Given the description of an element on the screen output the (x, y) to click on. 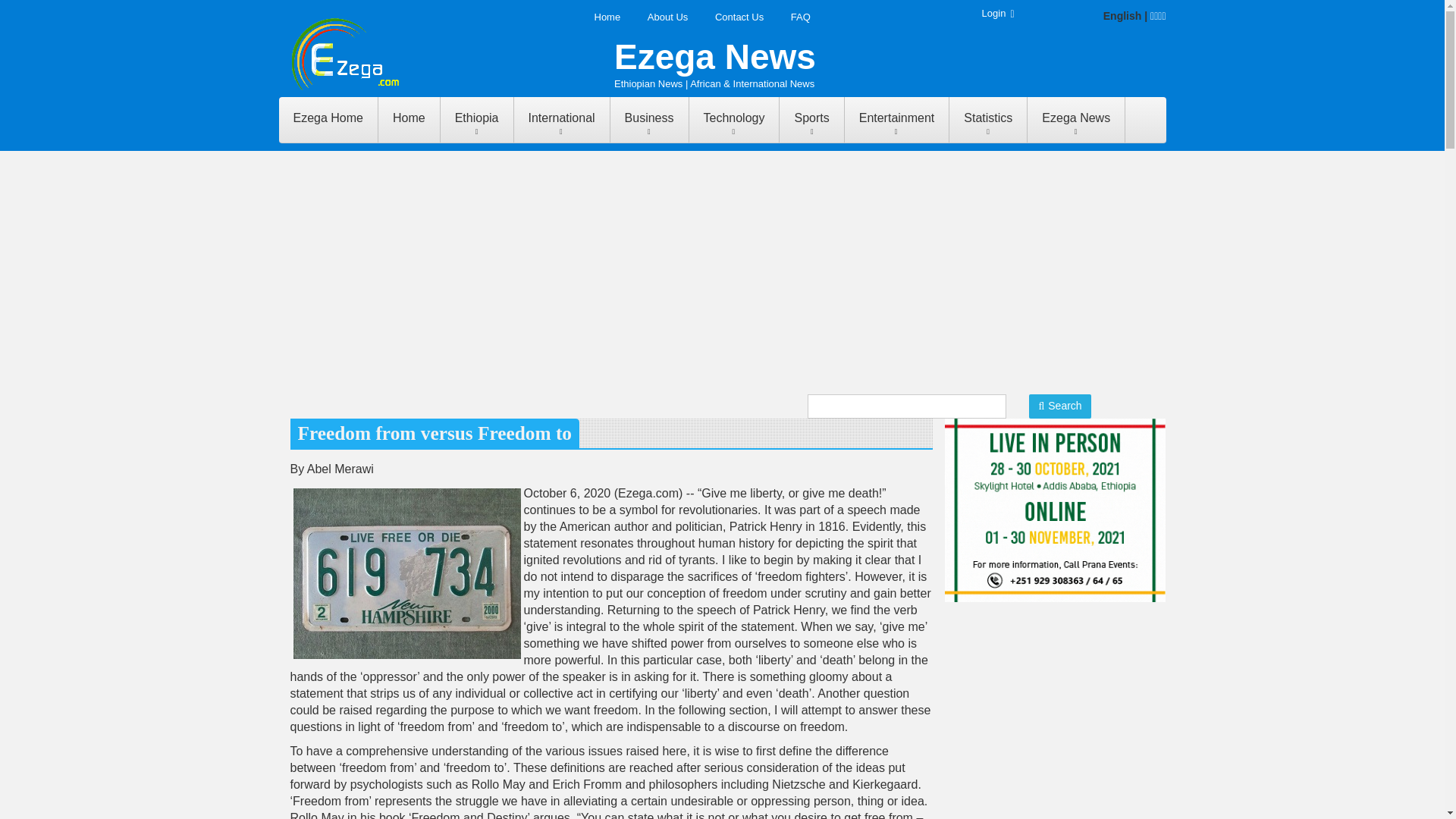
Ethiopia (477, 119)
About Us (667, 17)
Advertisement (1058, 710)
Entertainment (897, 119)
Home (409, 119)
Technology (733, 119)
Contact Us (739, 17)
Login (997, 12)
Home (607, 17)
Ezega Home (328, 119)
African Livestock (1055, 509)
Ezega Home (328, 119)
Business (649, 119)
Contact Us (739, 17)
FAQ (800, 17)
